Given the description of an element on the screen output the (x, y) to click on. 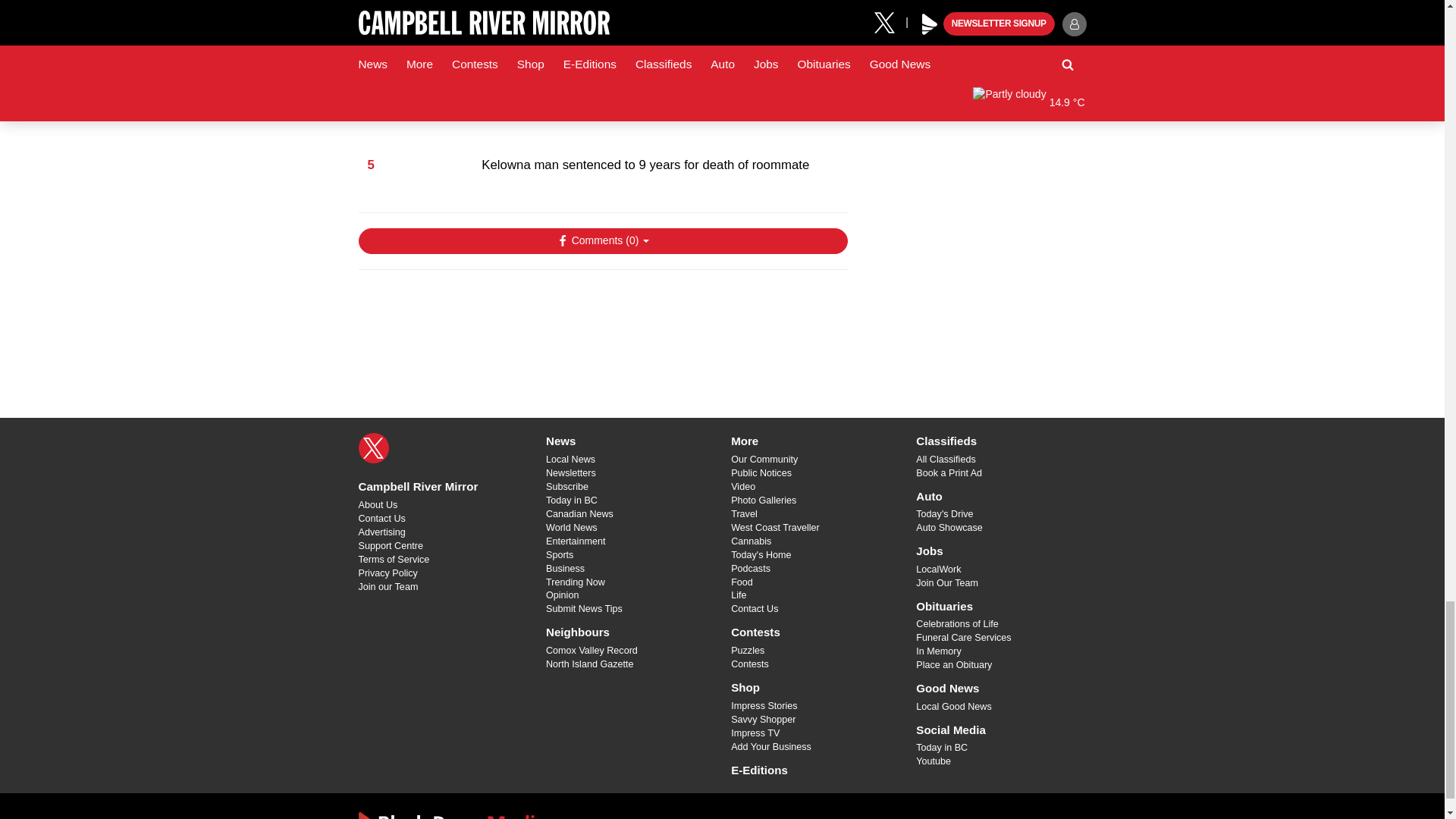
Show Comments (602, 240)
X (373, 448)
